Given the description of an element on the screen output the (x, y) to click on. 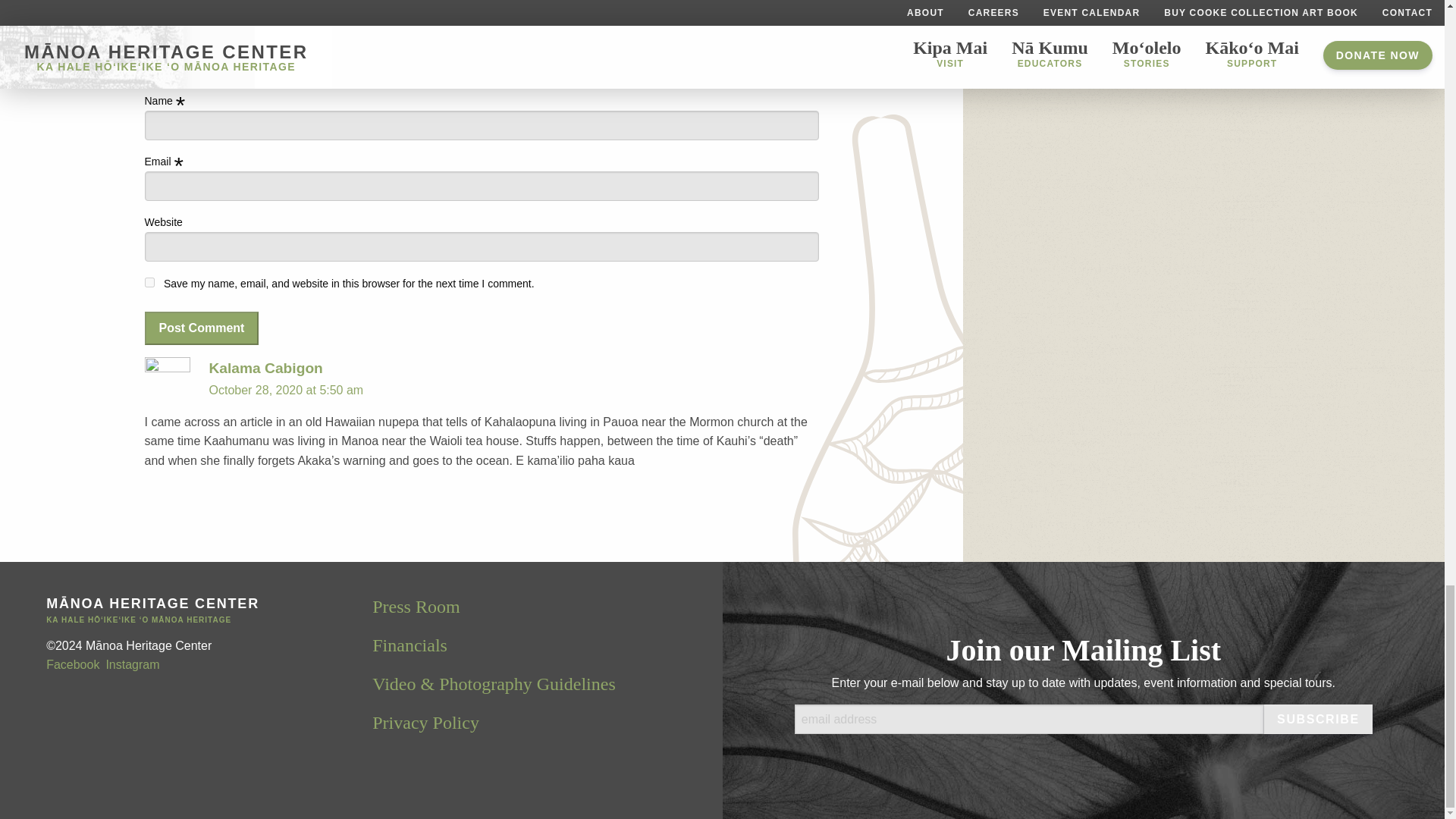
Press Room (416, 606)
yes (149, 282)
Financials (409, 645)
Post Comment (201, 328)
Post Comment (201, 328)
Facebook (72, 664)
Subscribe (1318, 718)
Privacy Policy (425, 722)
October 28, 2020 at 5:50 am (286, 390)
Instagram (131, 664)
Subscribe (1318, 718)
Kalama Cabigon (266, 367)
